Given the description of an element on the screen output the (x, y) to click on. 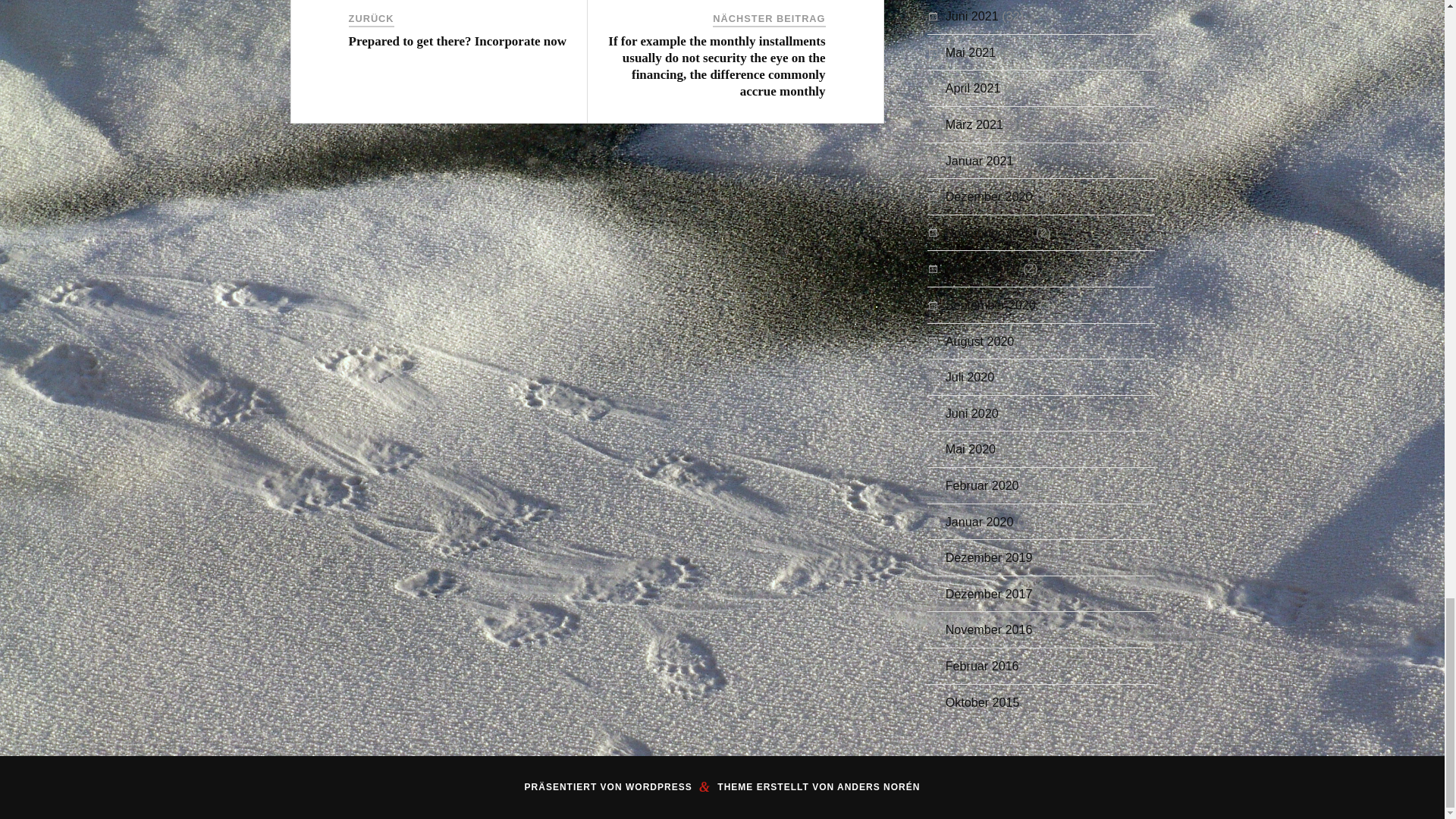
Vorheriger Beitrag: Prepared to get there? Incorporate now (458, 41)
